Given the description of an element on the screen output the (x, y) to click on. 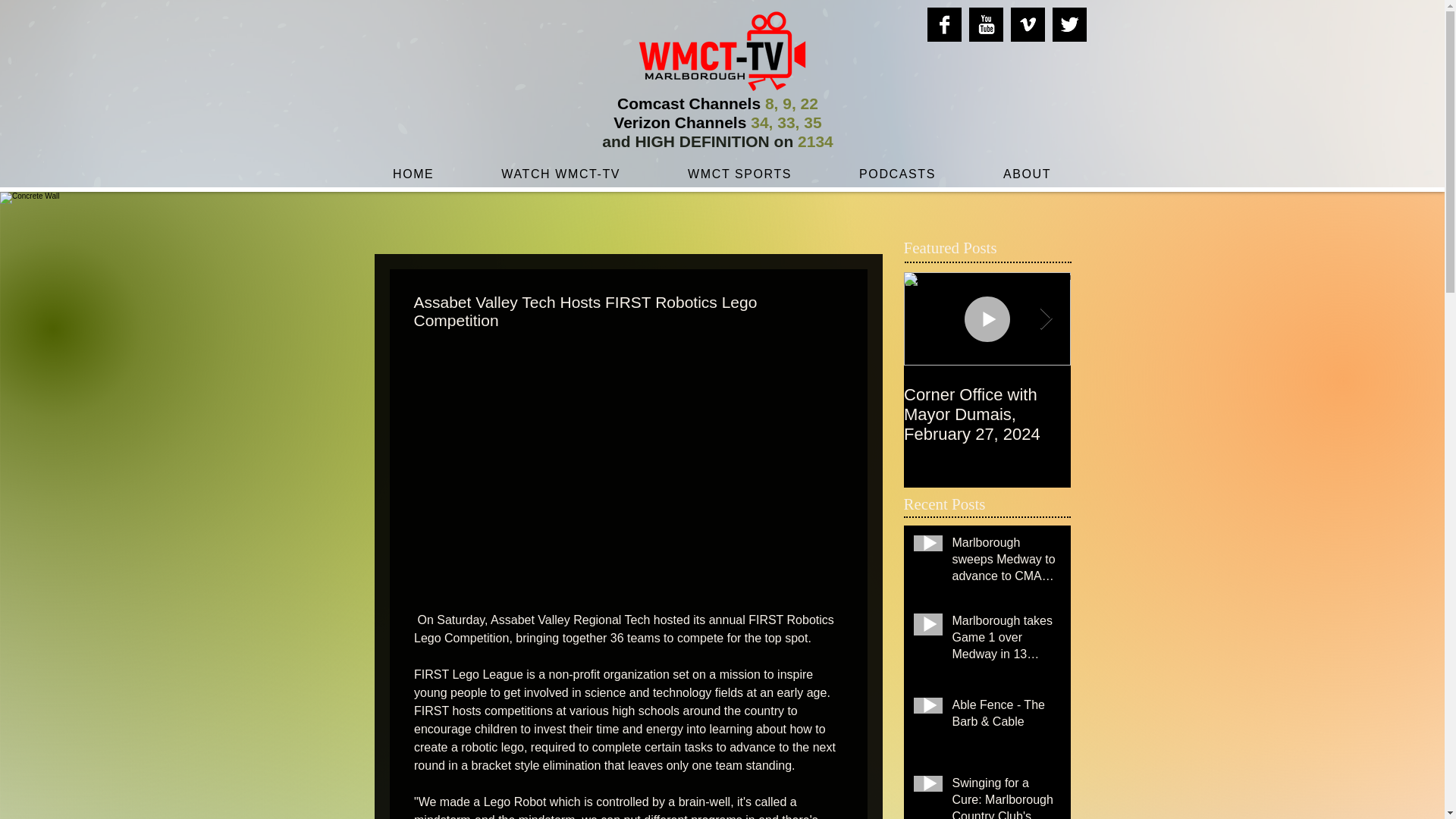
Marlborough takes Game 1 over Medway in 13 innings (1006, 640)
PREMIERE: Downtown with Teona Brown (1153, 414)
Corner Office with Mayor Dumais, February 27, 2024 (717, 131)
WMCT SPORTS (987, 414)
HOME (740, 174)
Marlborough sweeps Medway to advance to CMASS Finals (413, 174)
Comcast Channels 8, 9, 22 (1006, 562)
ABOUT (717, 103)
